Given the description of an element on the screen output the (x, y) to click on. 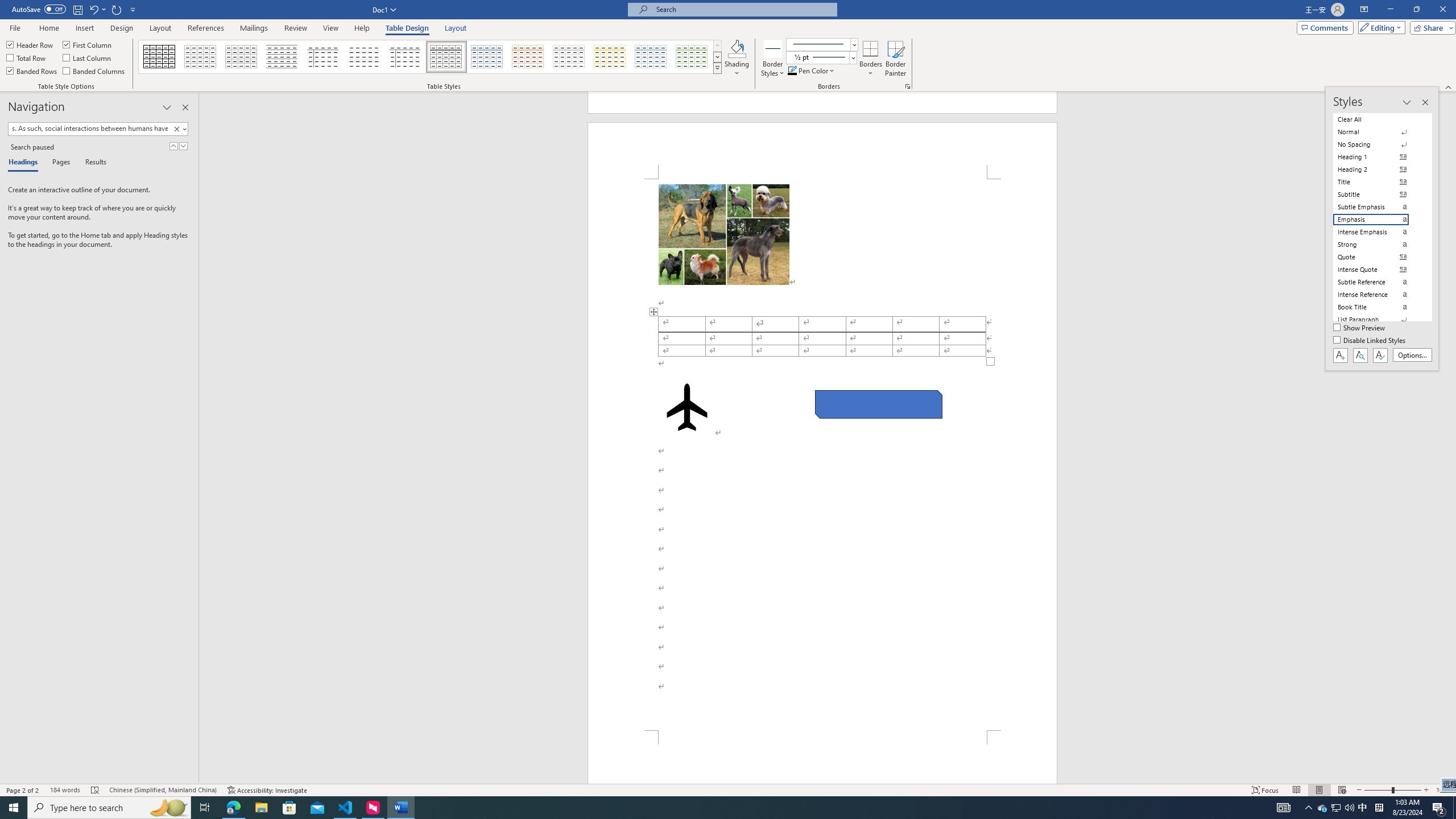
Accessibility Checker Accessibility: Investigate (266, 790)
Clear (178, 128)
First Column (88, 44)
AutomationID: TableStylesGalleryWord (430, 56)
Pages (59, 162)
Zoom (1392, 790)
Plain Table 4 (363, 56)
Heading 1 (1377, 156)
Quote (1377, 256)
